Given the description of an element on the screen output the (x, y) to click on. 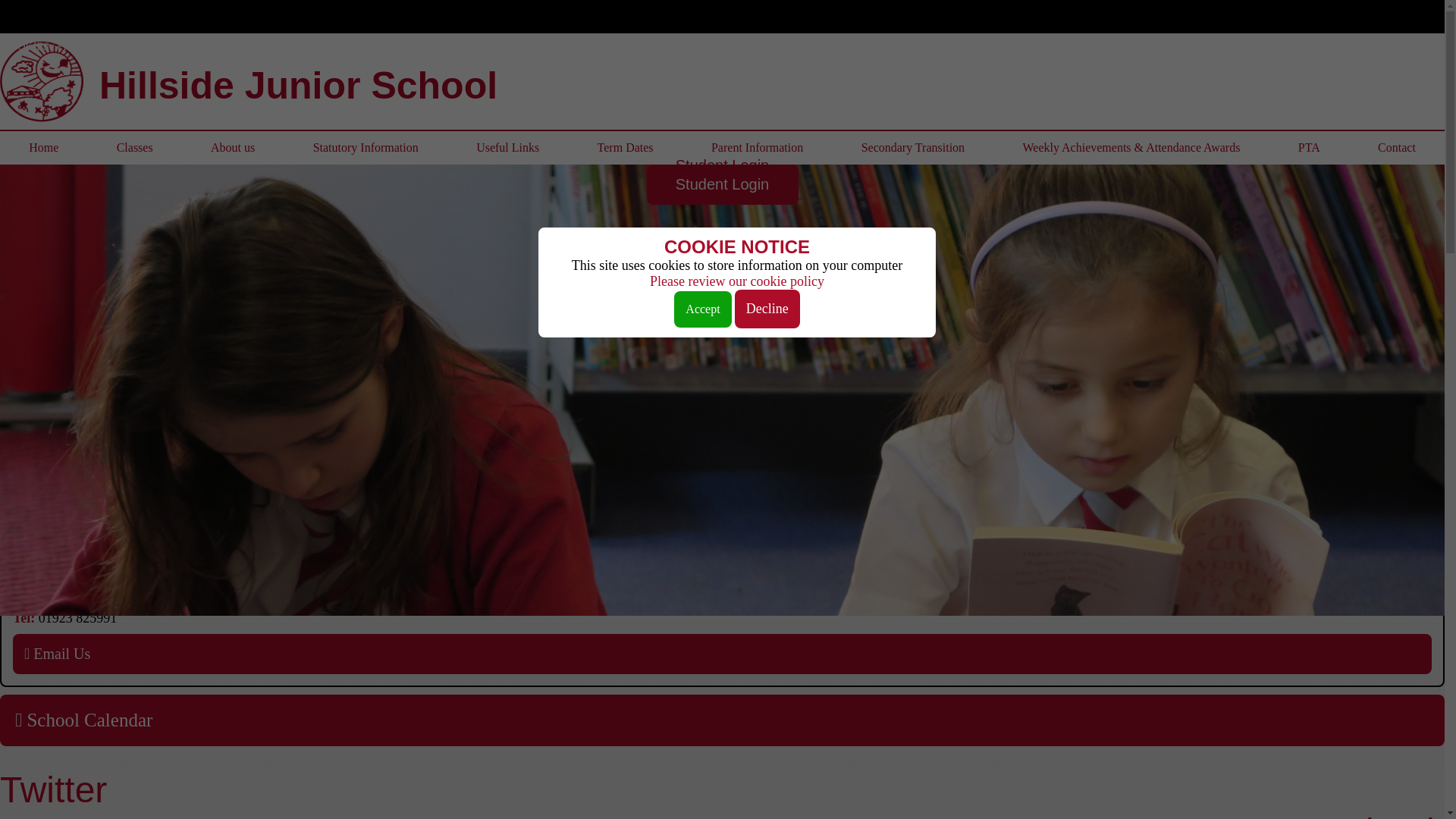
Statutory Information (364, 147)
Parent Information (757, 147)
Home (43, 147)
Term Dates (624, 147)
Useful Links (506, 147)
Please review our cookie policy (736, 281)
About us (232, 147)
Classes (133, 147)
Decline (767, 308)
